Given the description of an element on the screen output the (x, y) to click on. 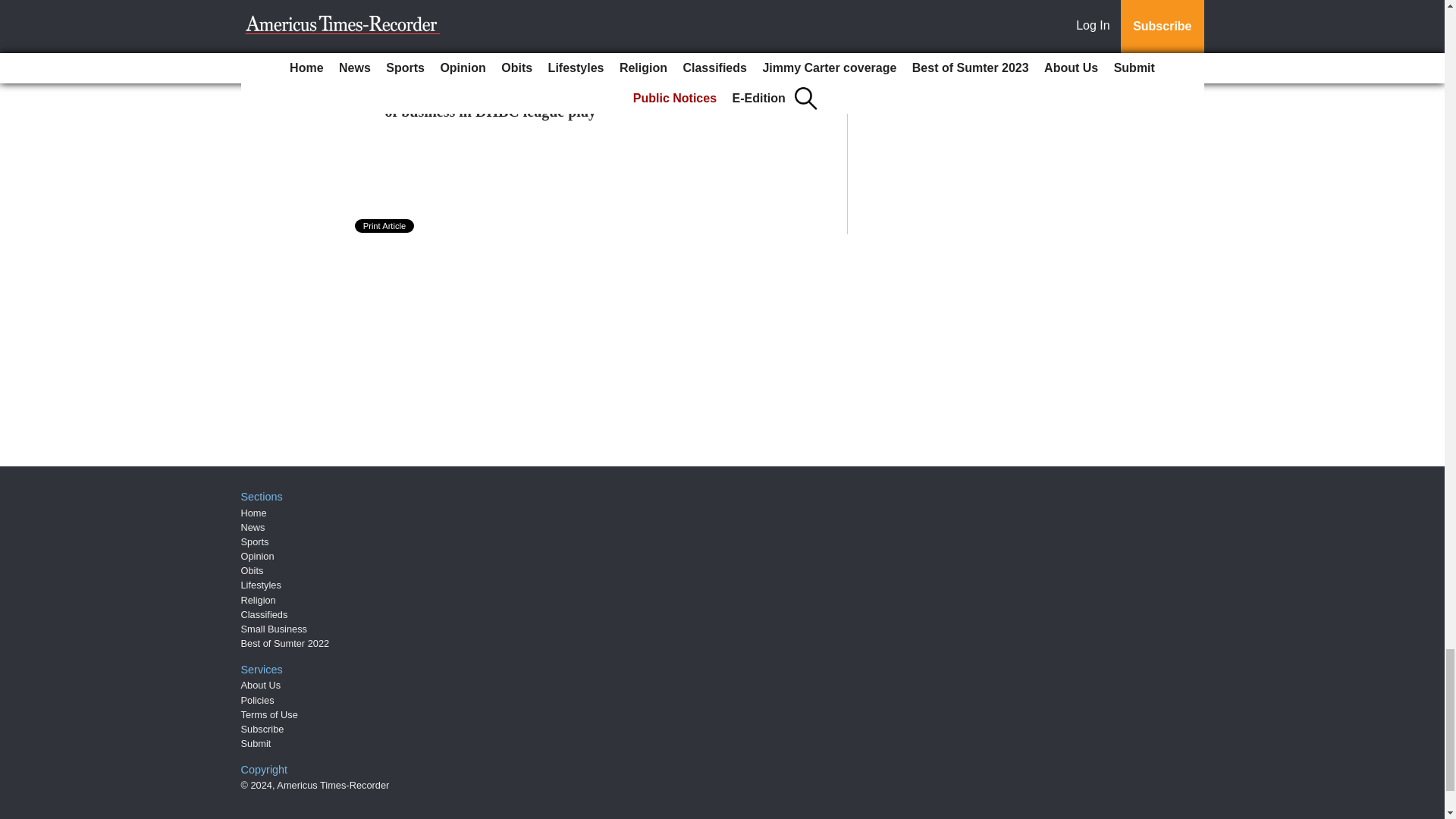
Classifieds (264, 614)
Home (253, 512)
Print Article (384, 225)
Lifestyles (261, 584)
Sports (255, 541)
Religion (258, 600)
Obits (252, 570)
News (252, 527)
Opinion (258, 555)
Small Business (274, 628)
